Given the description of an element on the screen output the (x, y) to click on. 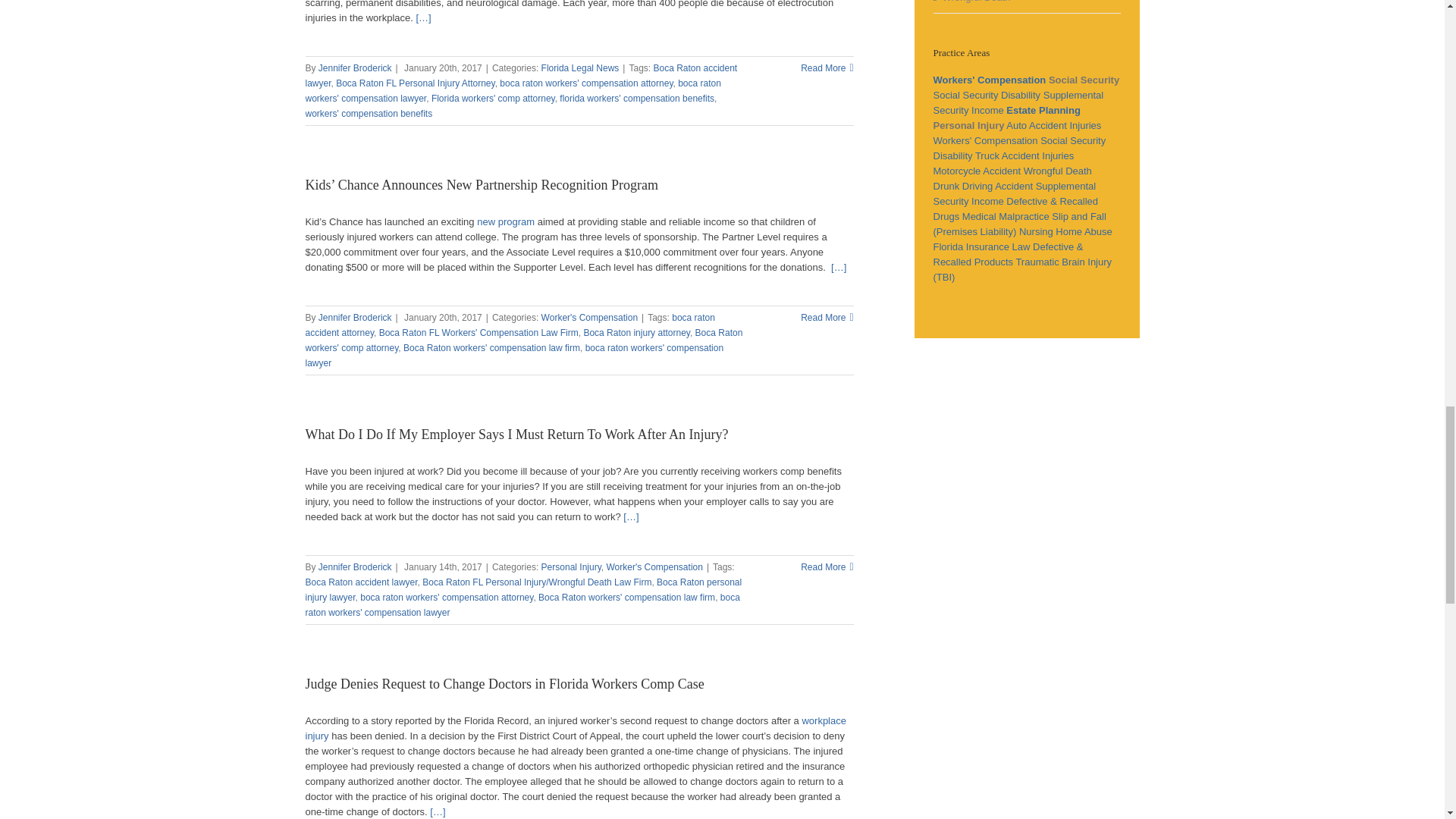
Posts by Jennifer Broderick (354, 566)
Truck Accident Injuries (1024, 155)
Auto Accident Injuries (1053, 125)
Posts by Jennifer Broderick (354, 317)
Motorcycle Accident Injuries (976, 170)
Posts by Jennifer Broderick (354, 68)
Social Security Disability (1019, 148)
